Given the description of an element on the screen output the (x, y) to click on. 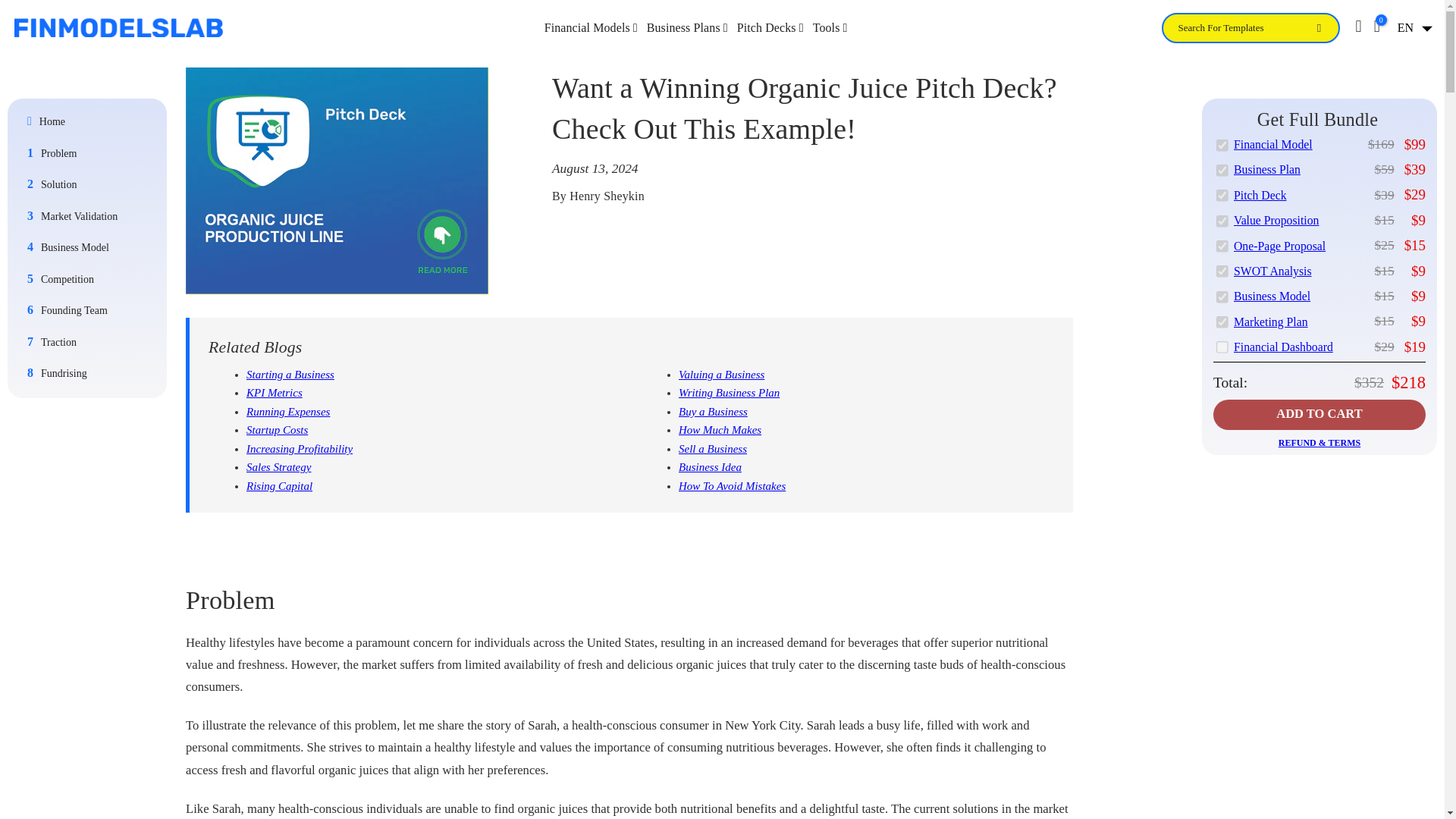
44908581847283 (1220, 320)
43979434426611 (1220, 169)
44016106668275 (1220, 144)
Financial Models (591, 27)
44000730906867 (1220, 245)
43997394731251 (1220, 270)
44013423427827 (1220, 296)
Business Plans (687, 27)
37952215056570 (1220, 346)
45774560231667 (1220, 194)
